Given the description of an element on the screen output the (x, y) to click on. 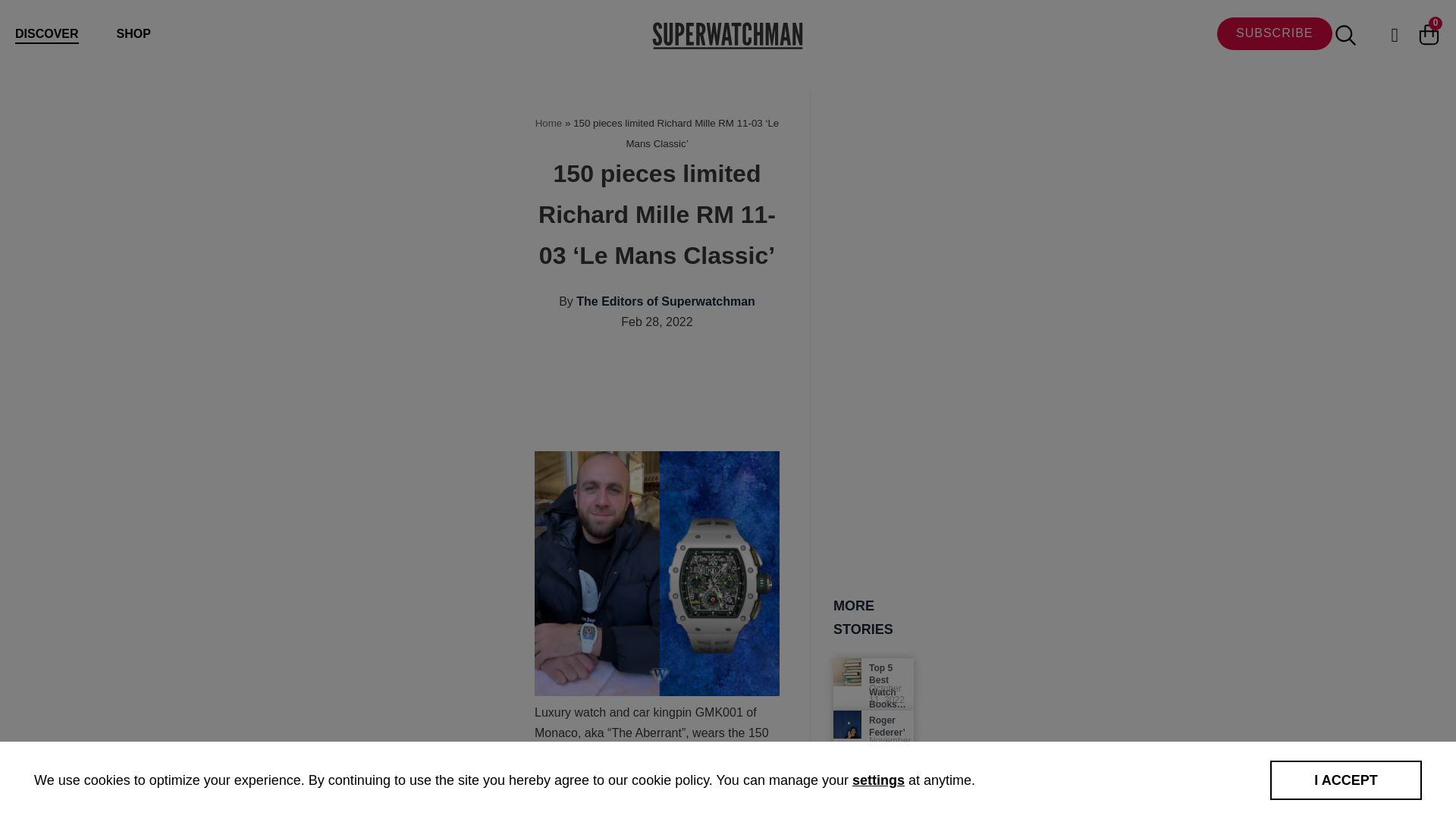
Advertisement (810, 398)
SHOP (133, 33)
The Editors of Superwatchman (665, 300)
Skip to content (15, 31)
Home (548, 122)
DISCOVER (46, 35)
SUBSCRIBE (1274, 33)
